Given the description of an element on the screen output the (x, y) to click on. 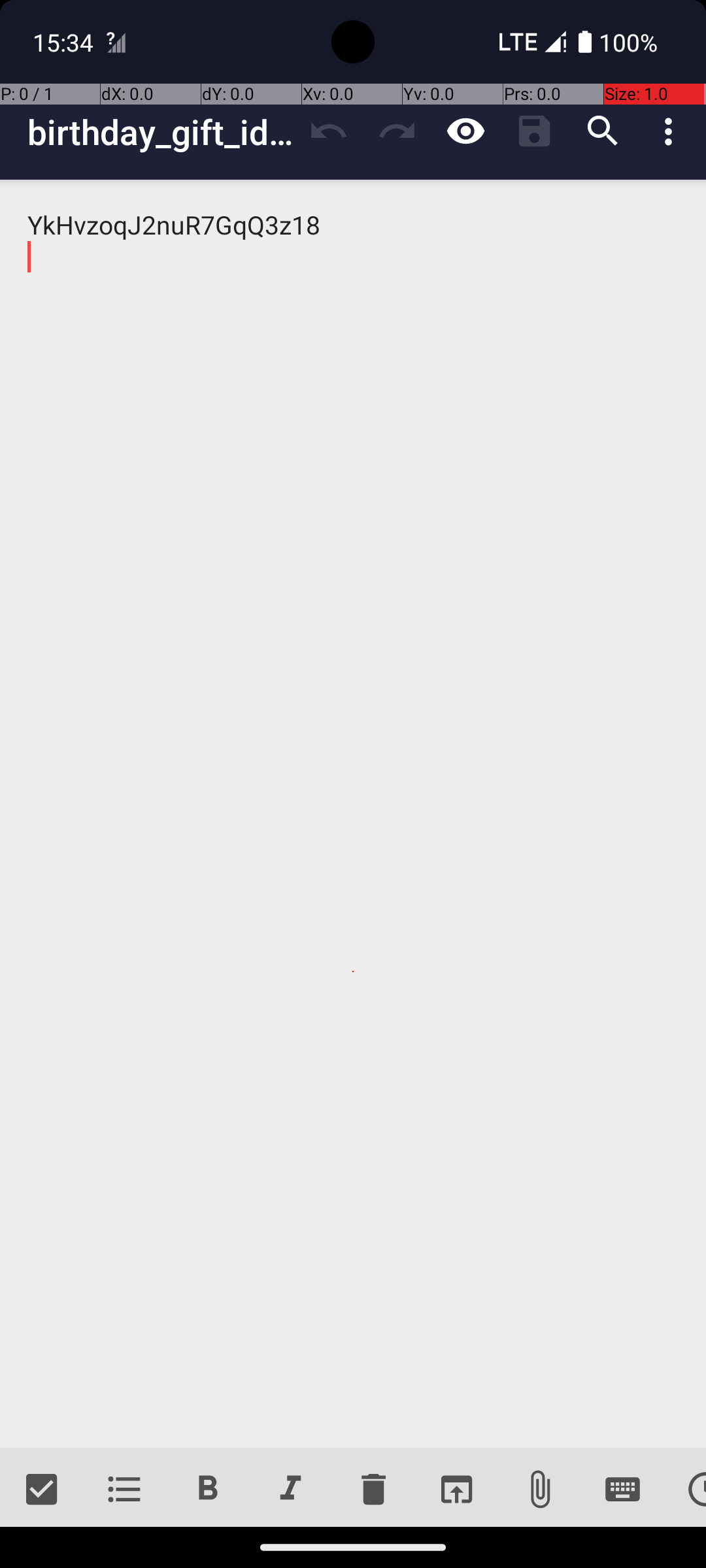
birthday_gift_ideas_mom_final Element type: android.widget.TextView (160, 131)
YkHvzoqJ2nuR7GqQ3z18
 Element type: android.widget.EditText (353, 813)
